Given the description of an element on the screen output the (x, y) to click on. 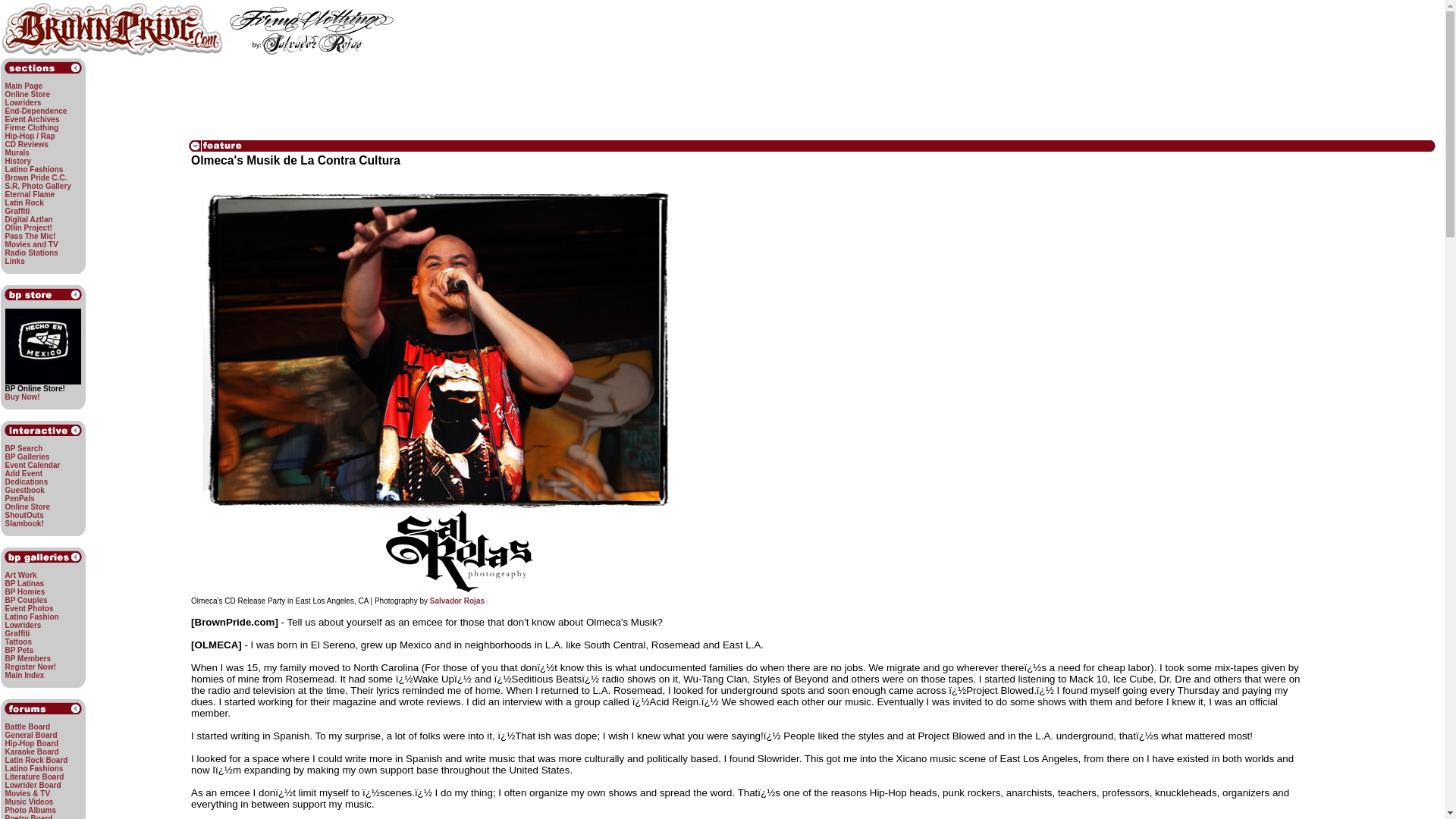
End-Dependence (35, 111)
Art Work (21, 574)
Links (14, 261)
Graffiti (17, 211)
Add Event (23, 473)
Event Archives (32, 119)
BP Galleries (27, 456)
Digital Aztlan (28, 219)
Advertisement (801, 103)
BP Homies (25, 592)
